Given the description of an element on the screen output the (x, y) to click on. 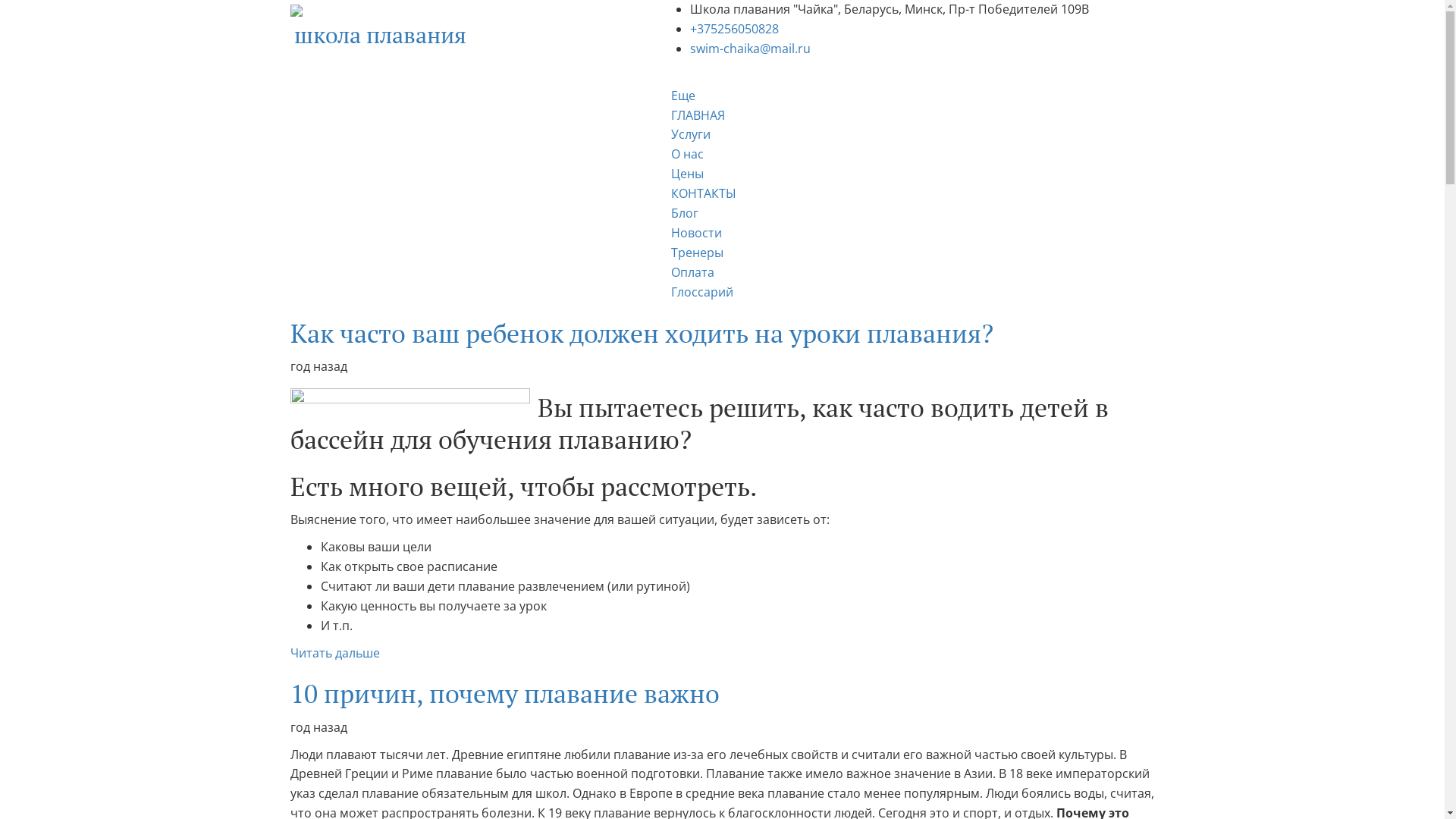
+375256050828 Element type: text (734, 28)
swim-chaika@mail.ru Element type: text (750, 48)
